Given the description of an element on the screen output the (x, y) to click on. 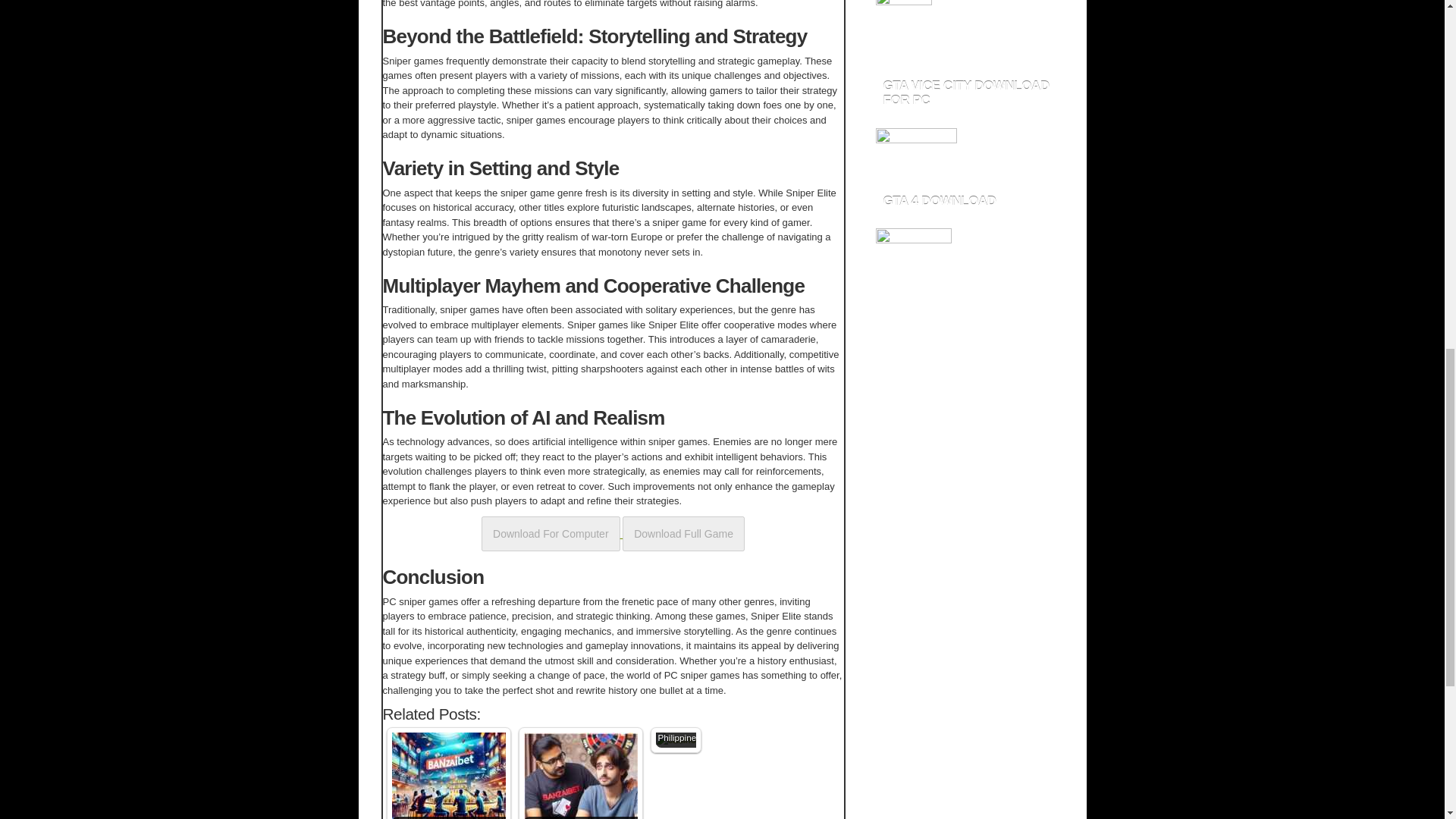
Download For Computer (550, 532)
Gta 4 Download (912, 250)
Download For Computer Download Full Game (612, 532)
Gta Vice City Download For Pc (915, 150)
Download Full Game (683, 532)
Gta 5 FitGirl Version (903, 29)
